Given the description of an element on the screen output the (x, y) to click on. 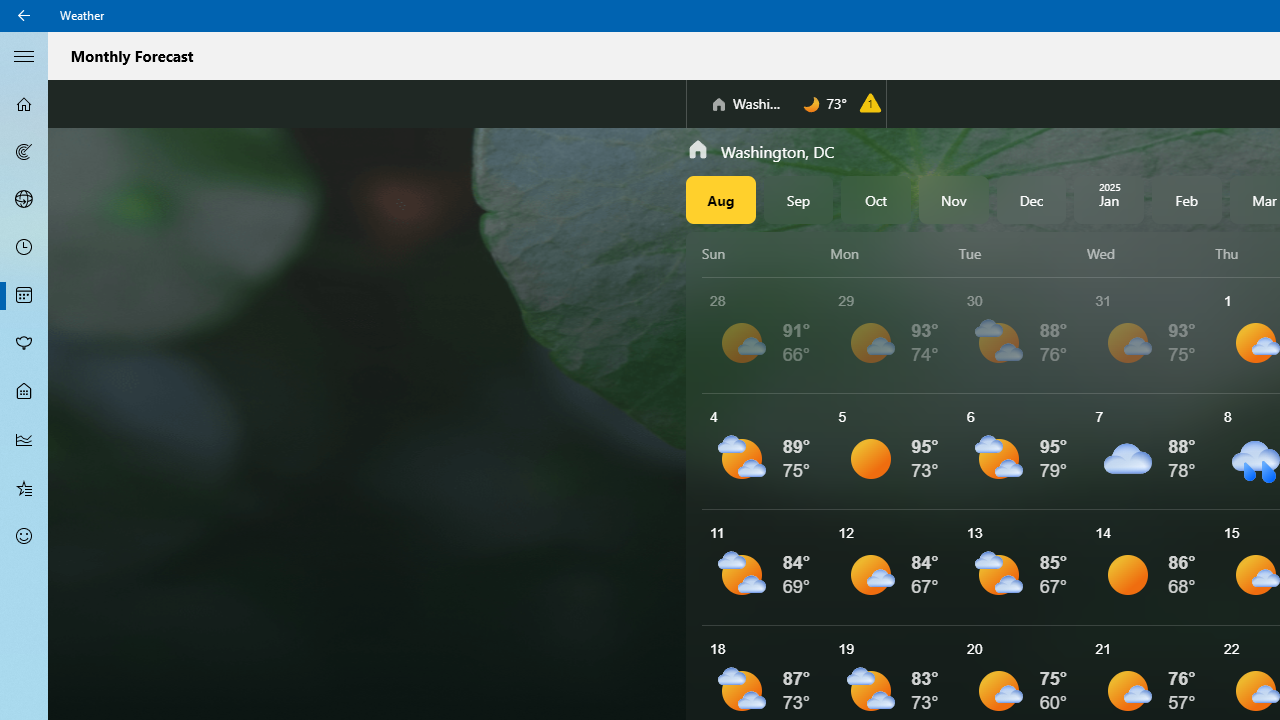
Maps - Not Selected (24, 151)
Forecast - Not Selected (24, 103)
Forecast - Not Selected (24, 103)
Favorites - Not Selected (24, 487)
Maps - Not Selected (24, 151)
Historical Weather - Not Selected (24, 439)
Monthly Forecast - Not Selected (24, 295)
